Given the description of an element on the screen output the (x, y) to click on. 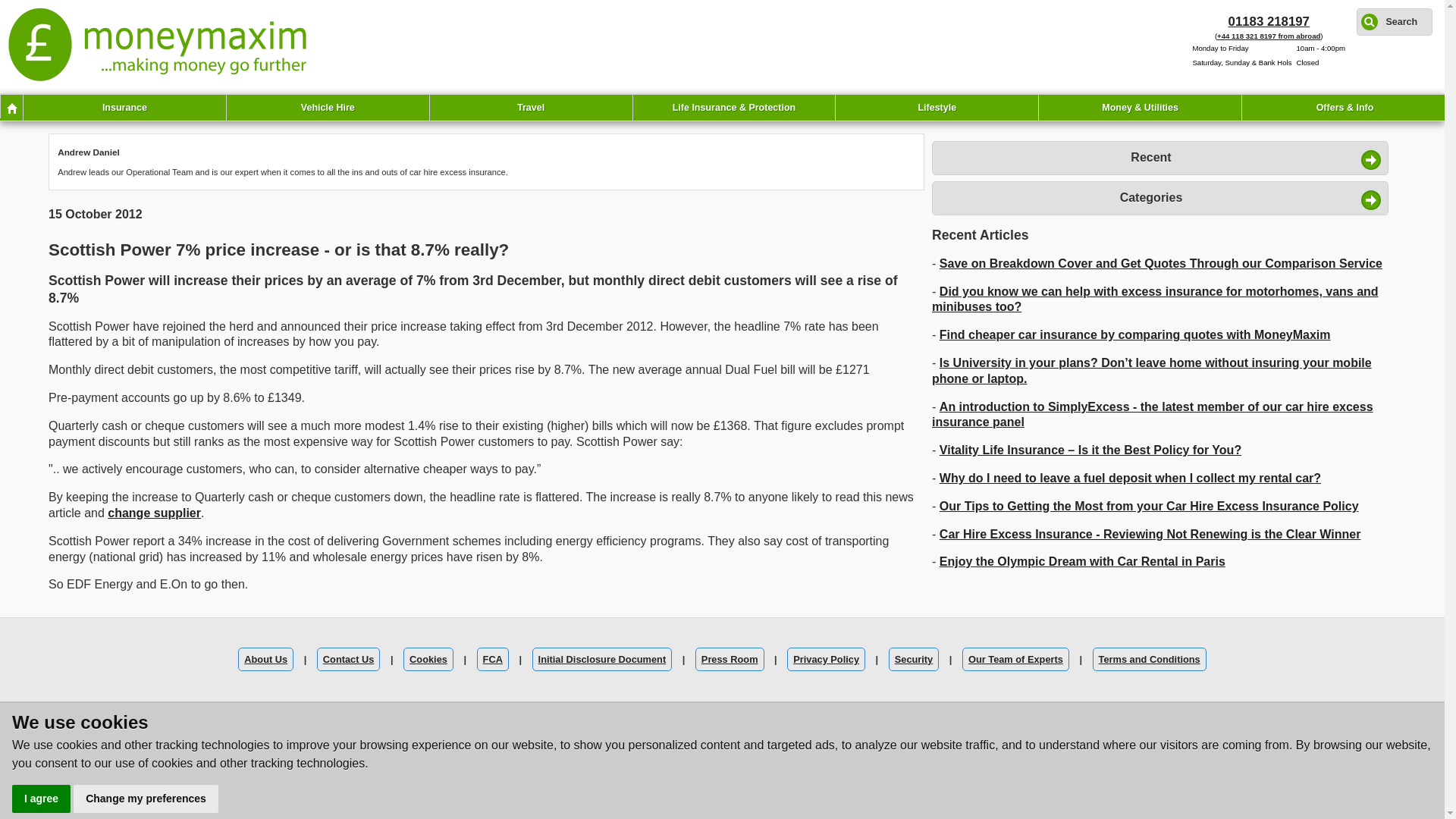
I agree (40, 798)
Home (11, 105)
Change my preferences (146, 798)
